Given the description of an element on the screen output the (x, y) to click on. 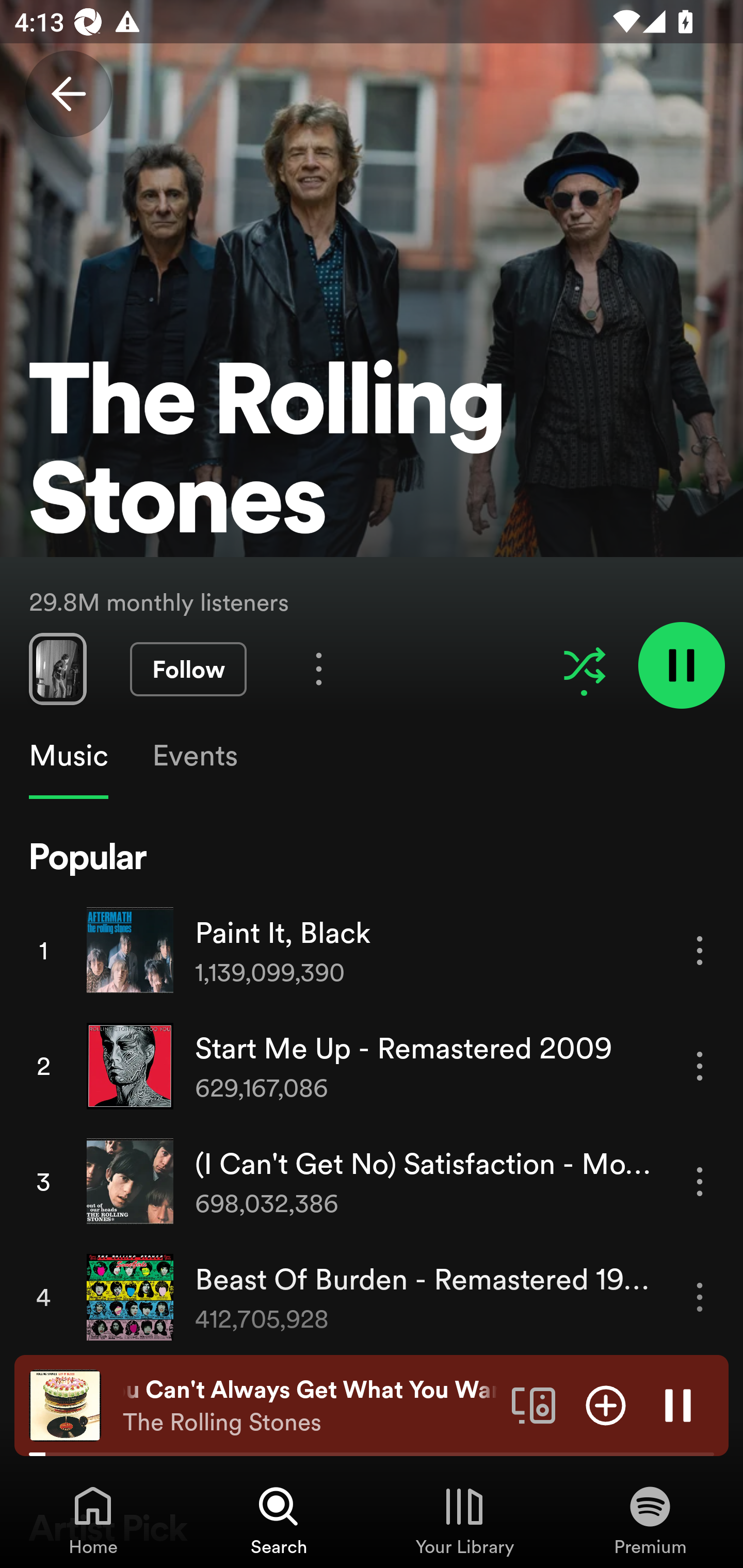
Back (68, 93)
Pause artist (681, 664)
Disable shuffle for this artist (583, 665)
Swipe through previews of tracks from this artist. (57, 668)
More options for artist The Rolling Stones (318, 668)
Follow (188, 669)
Events (194, 755)
More options for song Paint It, Black (699, 950)
The cover art of the currently playing track (64, 1404)
Connect to a device. Opens the devices menu (533, 1404)
Add item (605, 1404)
Pause (677, 1404)
Home, Tab 1 of 4 Home Home (92, 1519)
Search, Tab 2 of 4 Search Search (278, 1519)
Your Library, Tab 3 of 4 Your Library Your Library (464, 1519)
Premium, Tab 4 of 4 Premium Premium (650, 1519)
